Given the description of an element on the screen output the (x, y) to click on. 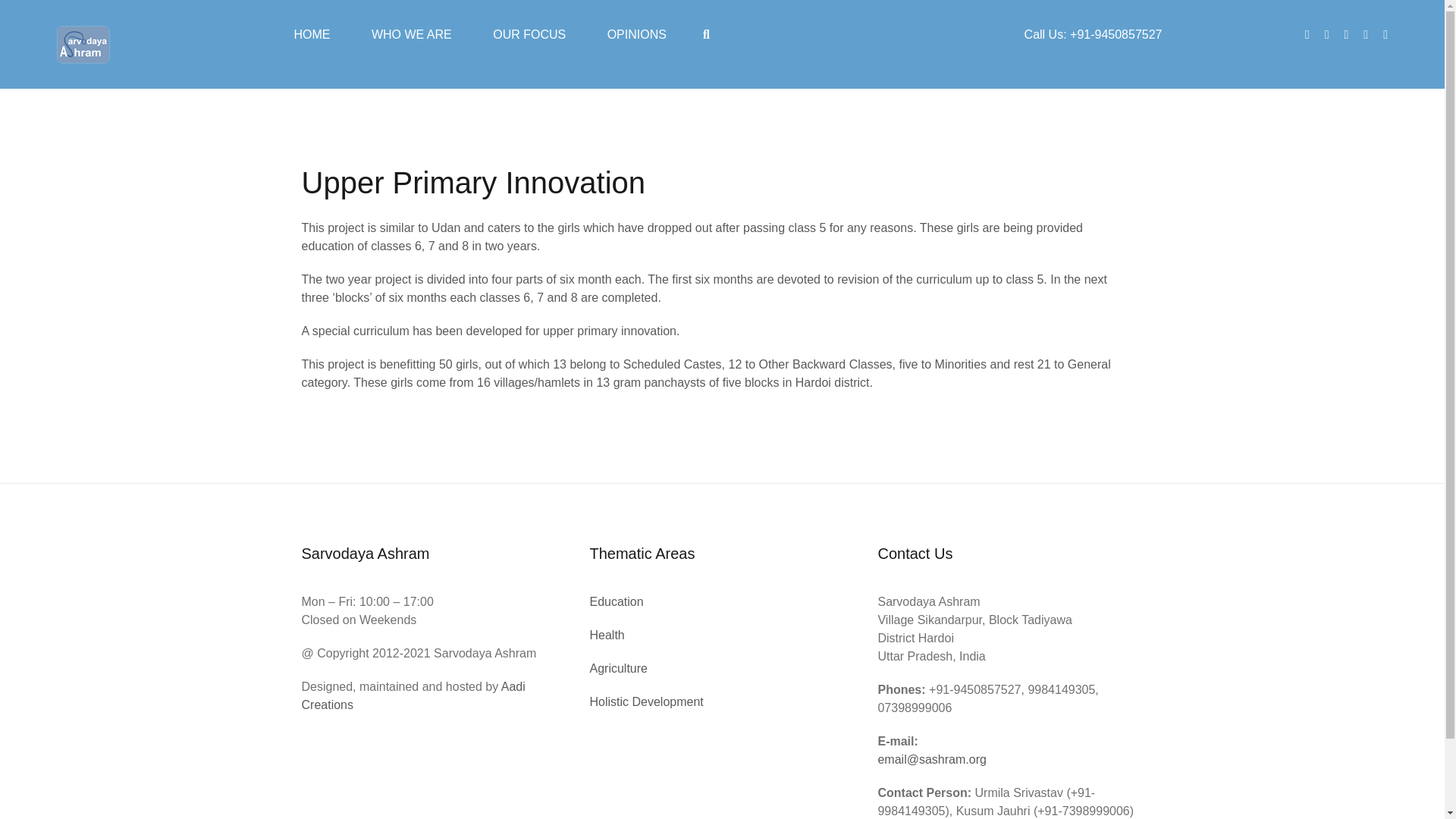
OPINIONS (636, 34)
Holistic Development (646, 701)
WHO WE ARE (411, 34)
Agriculture (617, 667)
Health (606, 634)
Education (616, 601)
Aadi Creations (413, 695)
OUR FOCUS (529, 34)
HOME (312, 34)
